Given the description of an element on the screen output the (x, y) to click on. 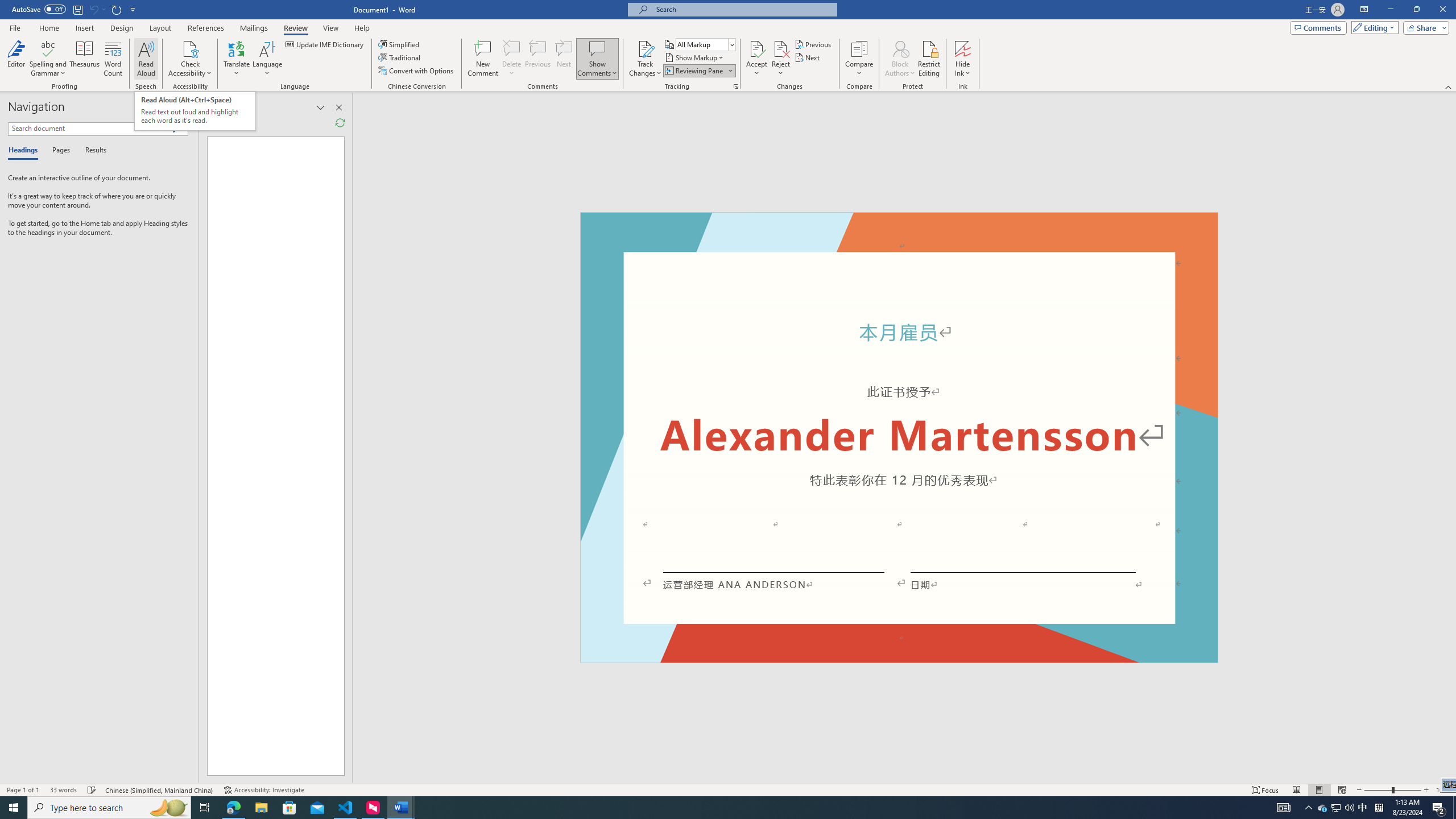
Quick Access Toolbar (74, 9)
Convert with Options... (417, 69)
Track Changes (644, 58)
Zoom Out (1377, 790)
Reviewing Pane (694, 69)
Microsoft search (742, 9)
Block Authors (900, 48)
Search (179, 128)
Show Markup (695, 56)
Delete (511, 48)
Ribbon Display Options (1364, 9)
Insert (83, 28)
Check Accessibility (189, 48)
Restore Down (1416, 9)
Headings (25, 150)
